Given the description of an element on the screen output the (x, y) to click on. 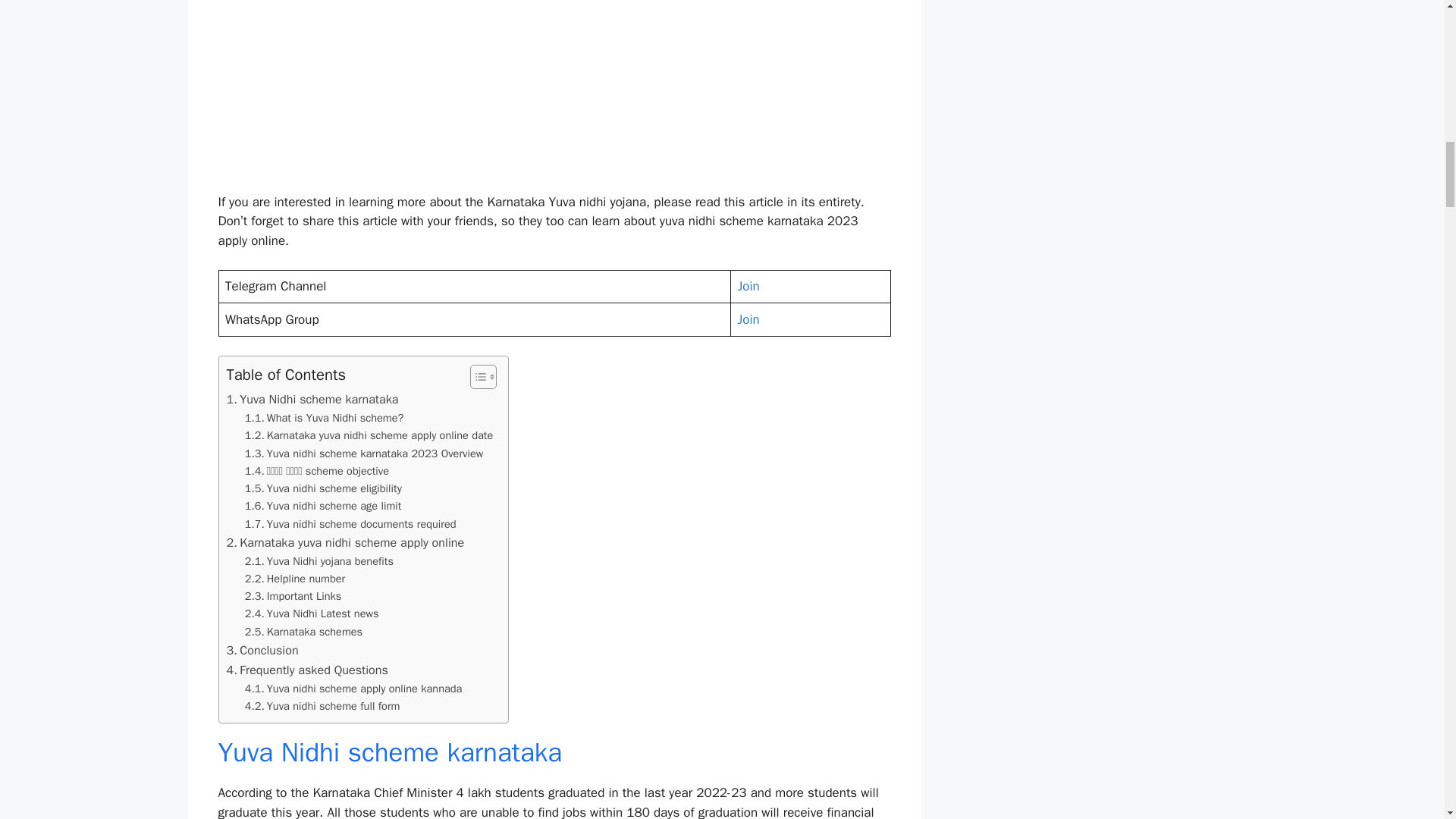
Yuva Nidhi yojana benefits (318, 561)
Karnataka yuva nidhi scheme apply online (344, 542)
Important Links  (294, 596)
Yuva nidhi scheme age limit (322, 506)
Yuva nidhi scheme karnataka 2023 Overview (363, 453)
Yuva Nidhi scheme karnataka (311, 399)
Yuva nidhi scheme documents required (350, 524)
What is Yuva Nidhi scheme? (324, 417)
Join (747, 286)
Yuva Nidhi scheme karnataka (311, 399)
What is Yuva Nidhi scheme? (324, 417)
Yuva nidhi scheme eligibility (322, 488)
Karnataka yuva nidhi scheme apply online date (368, 435)
Karnataka yuva nidhi scheme apply online (344, 542)
